Given the description of an element on the screen output the (x, y) to click on. 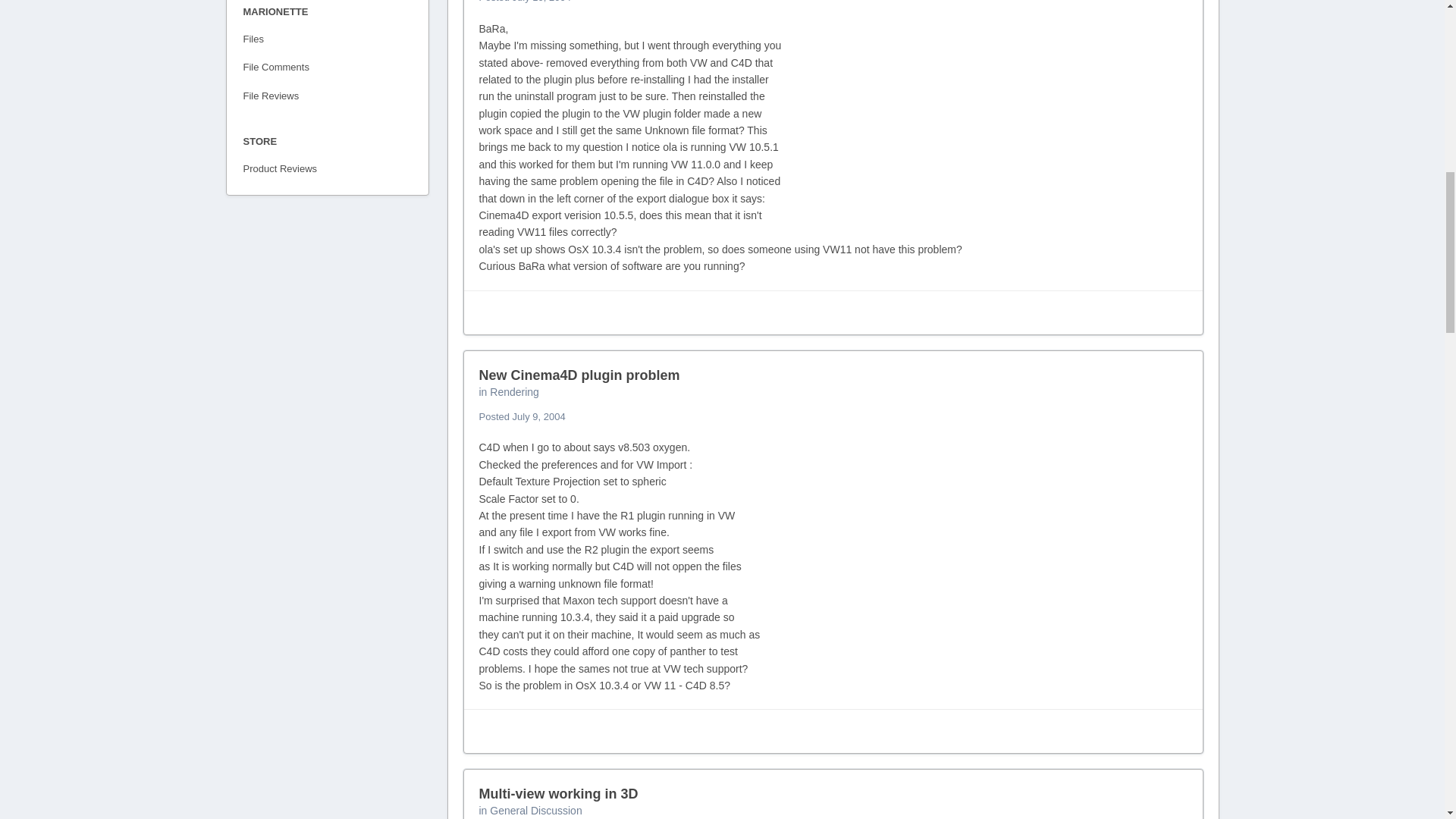
View the topic Multi-view working in 3D (559, 793)
View the topic New Cinema4D plugin problem (579, 375)
